Given the description of an element on the screen output the (x, y) to click on. 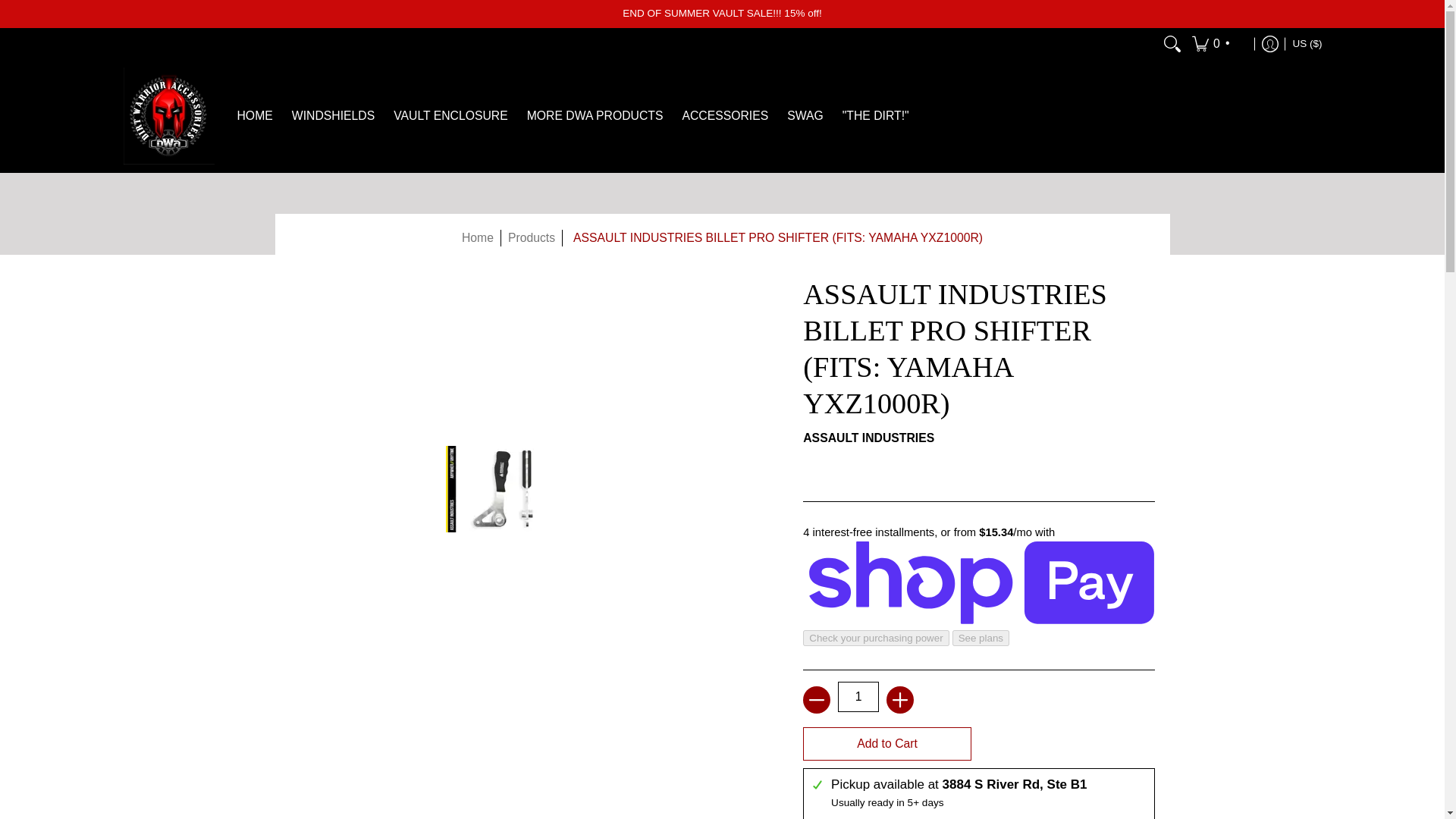
Log in (1270, 43)
VAULT ENCLOSURE (450, 115)
MORE DWA PRODUCTS (595, 115)
Cart (1220, 43)
Update store currency (1306, 43)
1 (858, 696)
ACCESSORIES (725, 115)
